Given the description of an element on the screen output the (x, y) to click on. 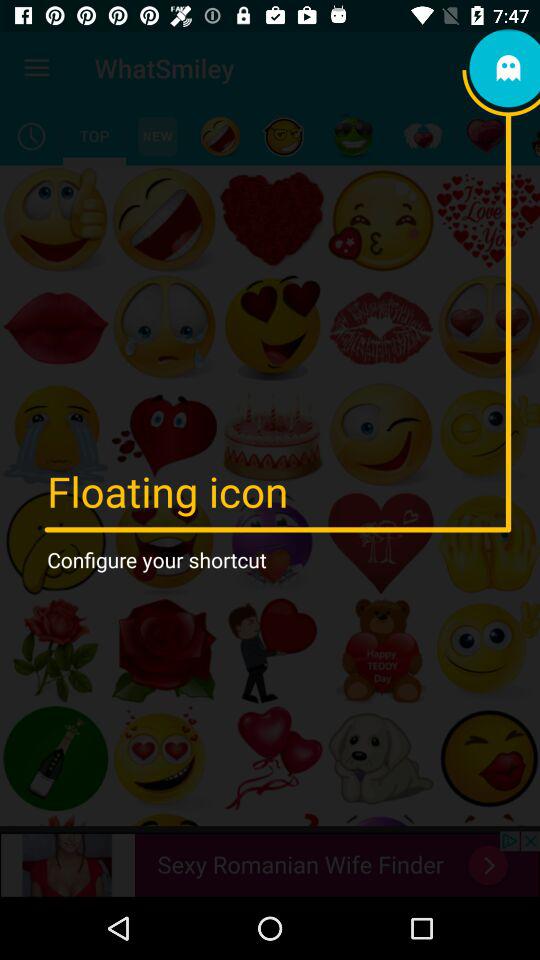
heart icon (485, 136)
